Given the description of an element on the screen output the (x, y) to click on. 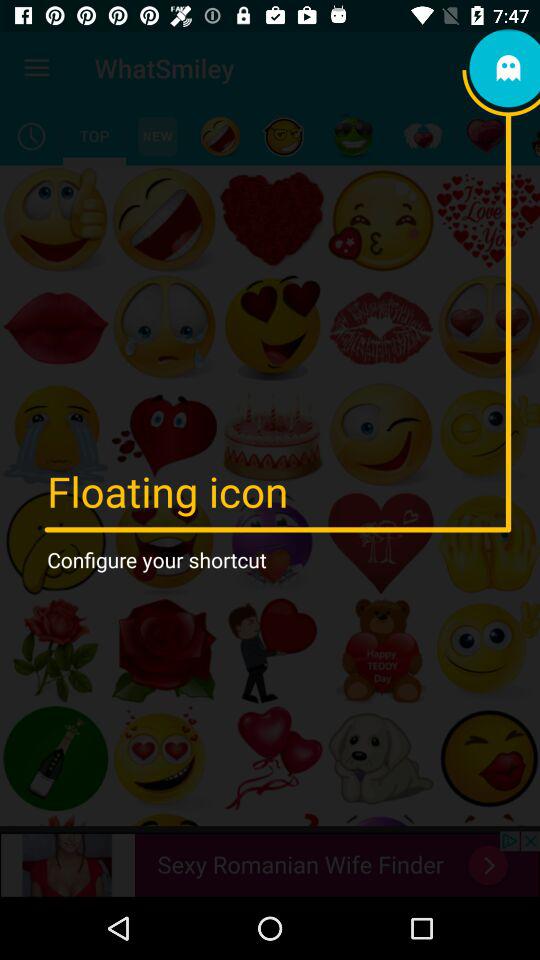
heart icon (485, 136)
